Given the description of an element on the screen output the (x, y) to click on. 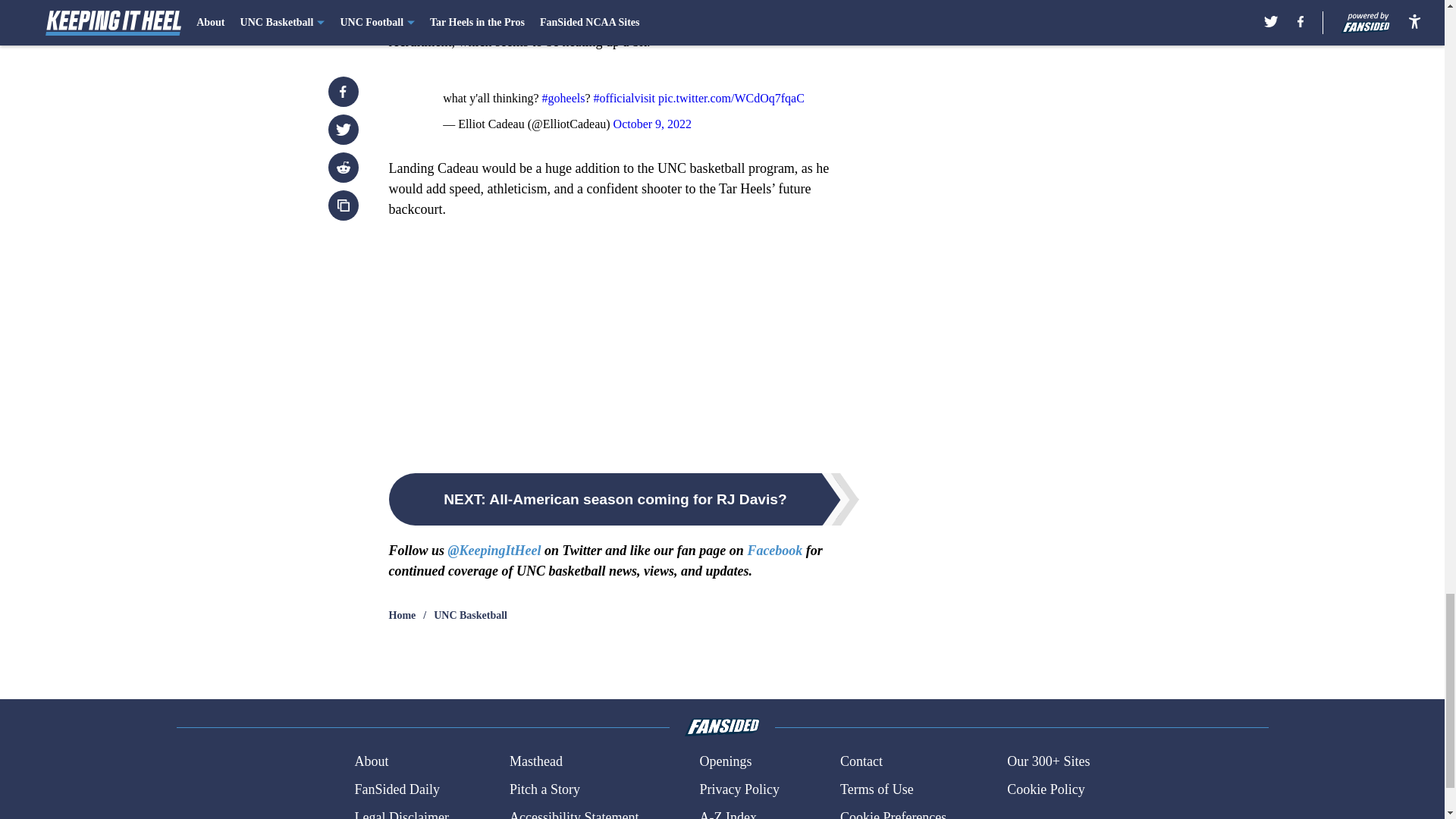
Facebook (774, 549)
NEXT: All-American season coming for RJ Davis? (623, 499)
UNC Basketball (469, 615)
Home (401, 615)
October 9, 2022 (652, 123)
About (370, 761)
Masthead (535, 761)
